Given the description of an element on the screen output the (x, y) to click on. 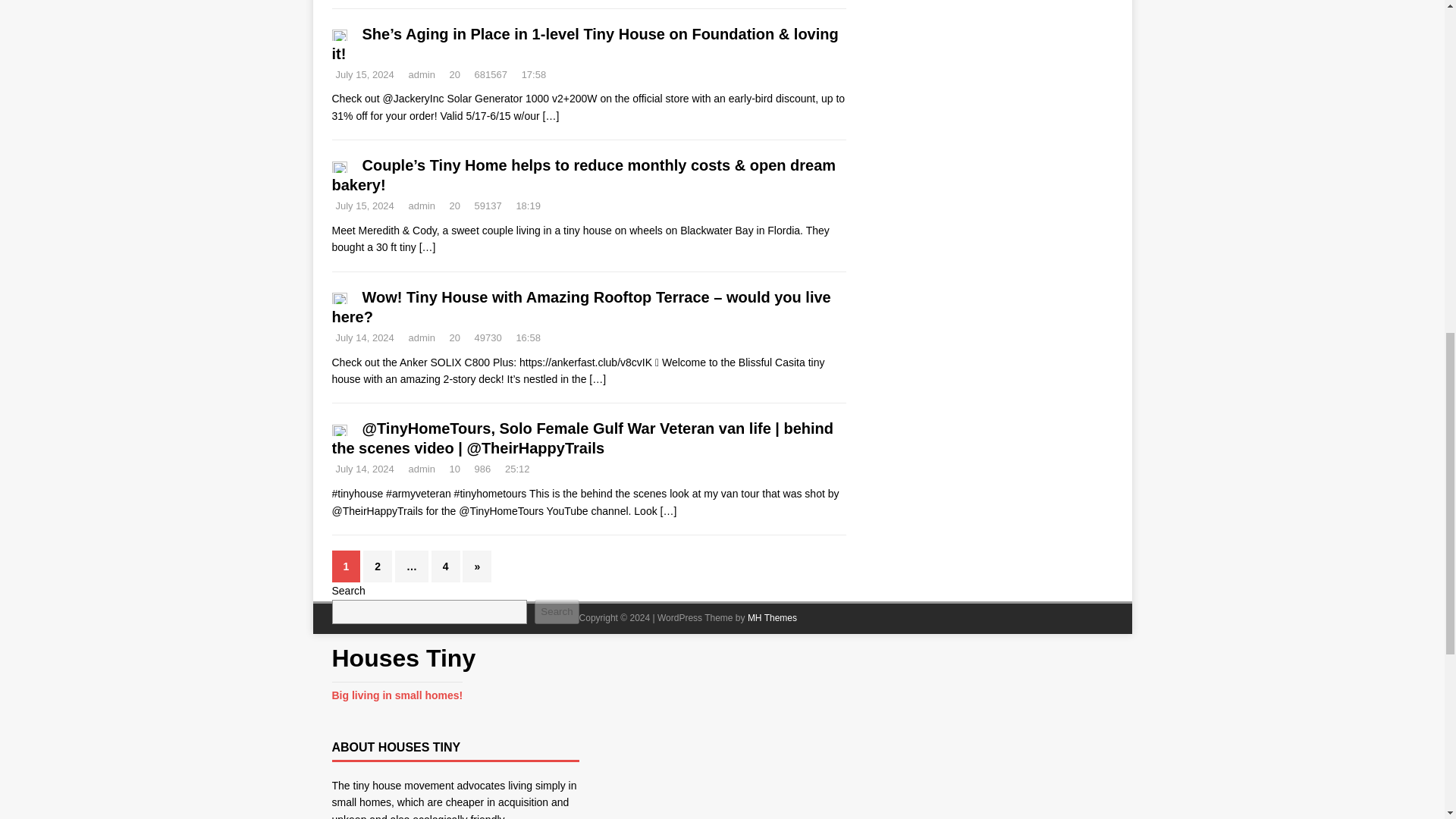
20 (454, 74)
20 (454, 205)
admin (420, 205)
admin (420, 74)
